Given the description of an element on the screen output the (x, y) to click on. 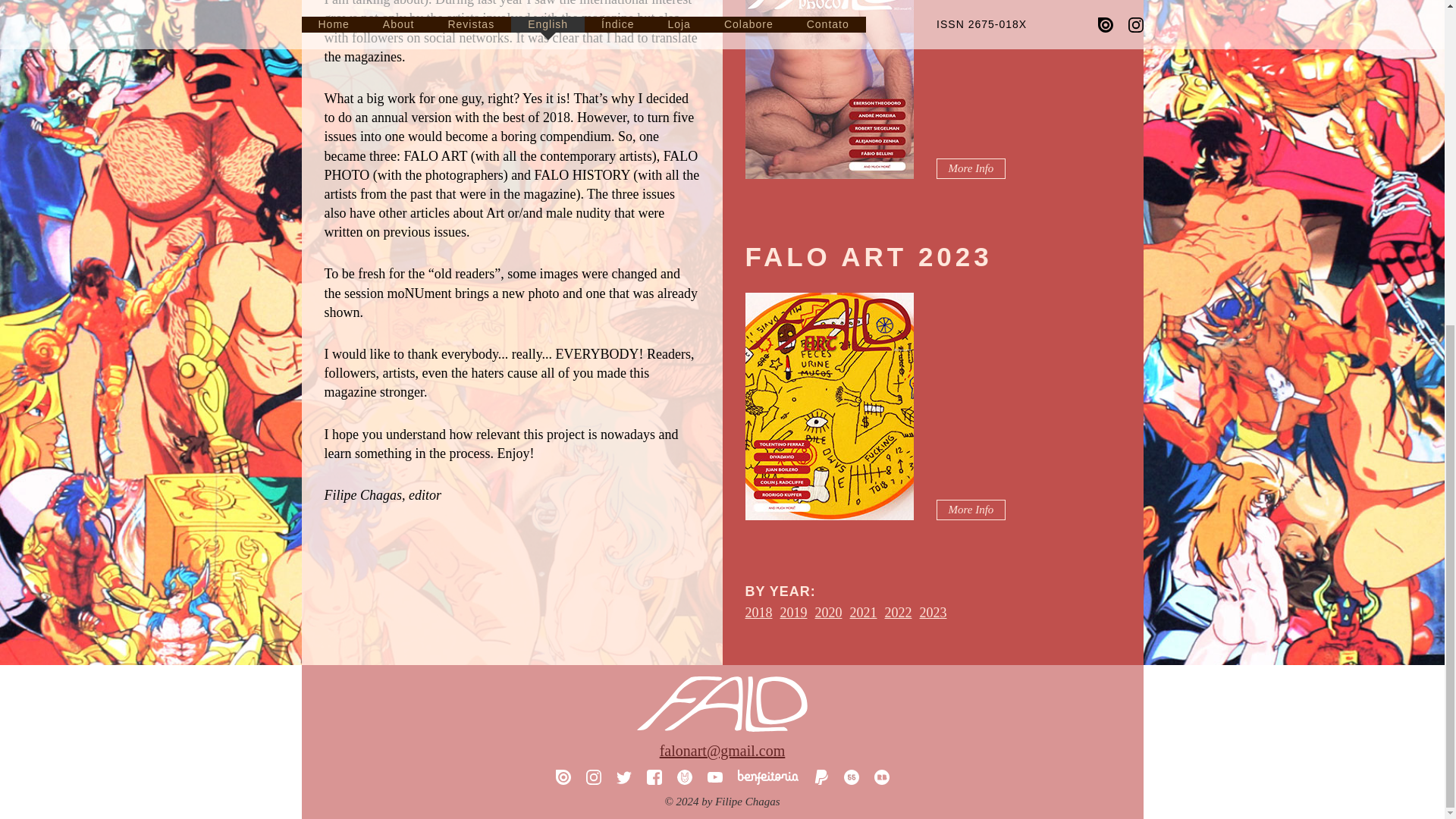
2022 (897, 612)
2019 (792, 612)
2023 (932, 612)
2021 (862, 612)
More Info (971, 509)
More Info (971, 168)
2018 (757, 612)
2020 (827, 612)
